Given the description of an element on the screen output the (x, y) to click on. 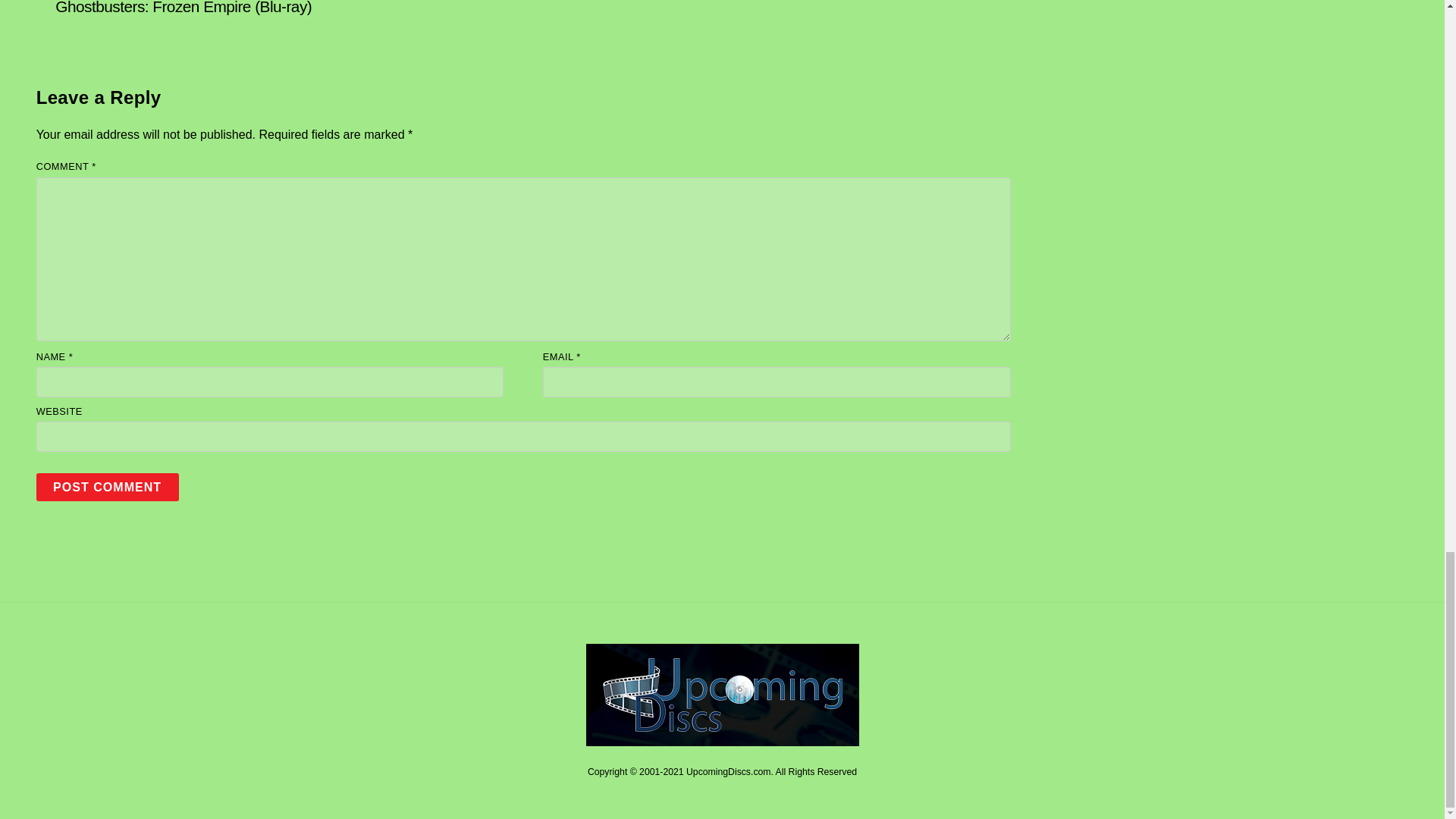
Post Comment (107, 487)
Post Comment (107, 487)
UpcomingDiscs.com (722, 740)
